Given the description of an element on the screen output the (x, y) to click on. 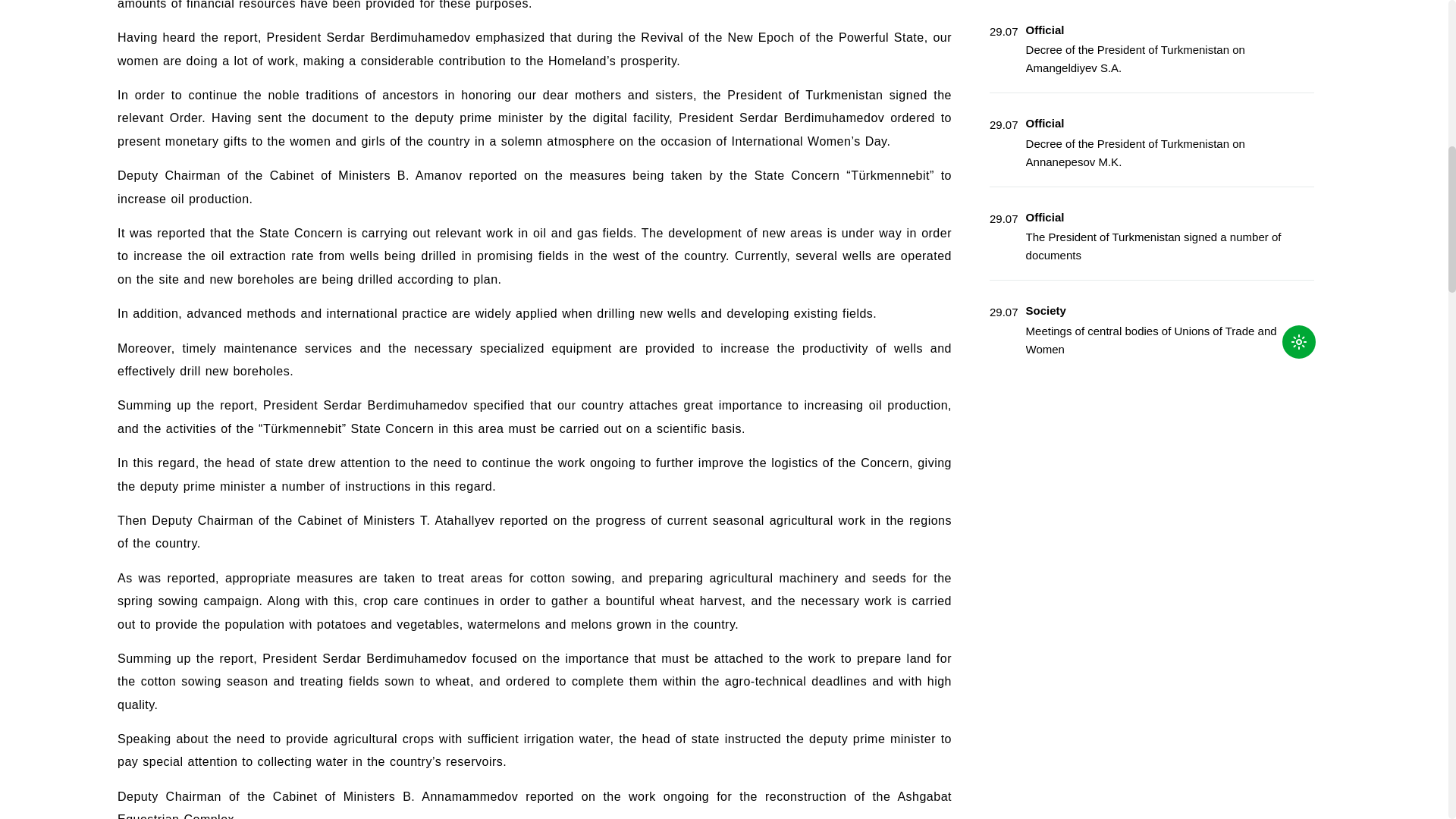
Official (1045, 216)
Official (1045, 29)
Society (1045, 309)
Official (1045, 123)
